Given the description of an element on the screen output the (x, y) to click on. 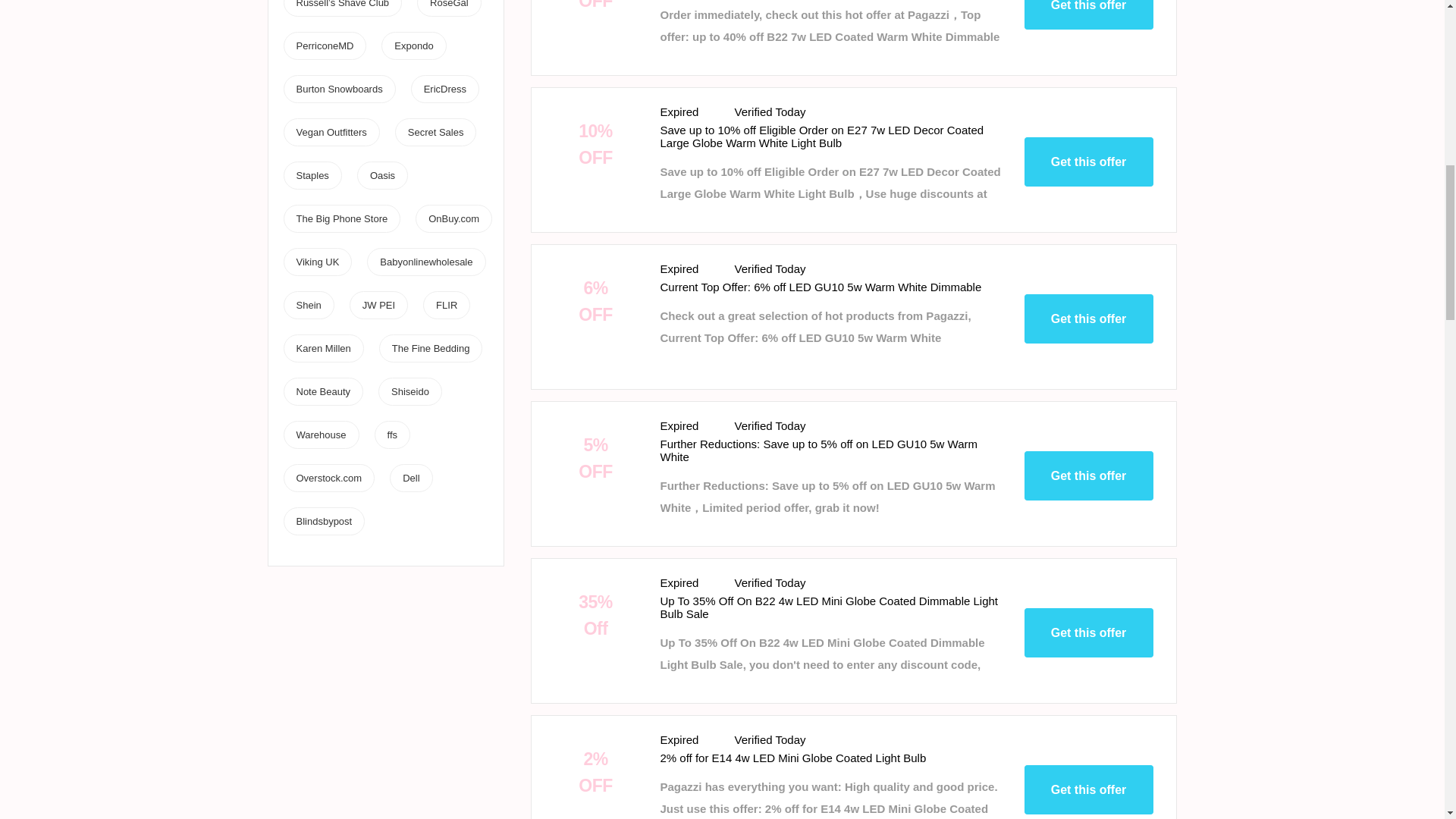
Shein (307, 305)
The Fine Bedding (430, 348)
PerriconeMD (324, 45)
Expondo (413, 45)
FLIR (446, 305)
Shiseido (410, 391)
Vegan Outfitters (330, 132)
Karen Millen (322, 348)
Burton Snowboards (338, 89)
RoseGal (448, 4)
JW PEI (378, 305)
Overstock.com (328, 478)
The Big Phone Store (341, 218)
Viking UK (317, 261)
Warehouse (320, 434)
